Given the description of an element on the screen output the (x, y) to click on. 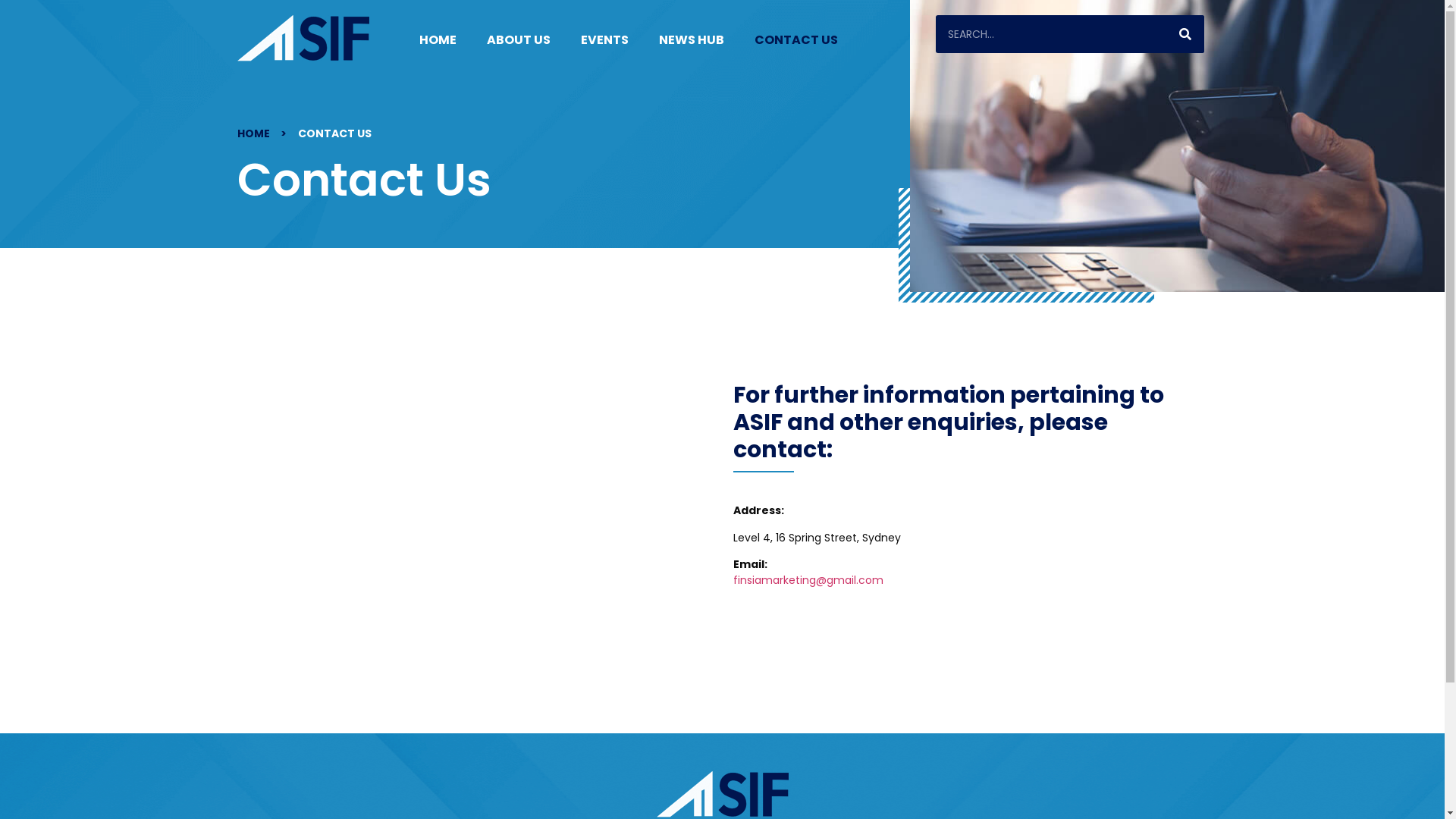
CONTACT US Element type: text (795, 39)
EVENTS Element type: text (604, 39)
Search Element type: hover (1050, 34)
Search Element type: hover (1185, 34)
HOME Element type: text (247, 133)
finsiamarketing@gmail.com Element type: text (807, 579)
NEWS HUB Element type: text (690, 39)
HOME Element type: text (436, 39)
4/16 Spring St, Sydney NSW 2000, Australia Element type: hover (465, 490)
ABOUT US Element type: text (518, 39)
